Given the description of an element on the screen output the (x, y) to click on. 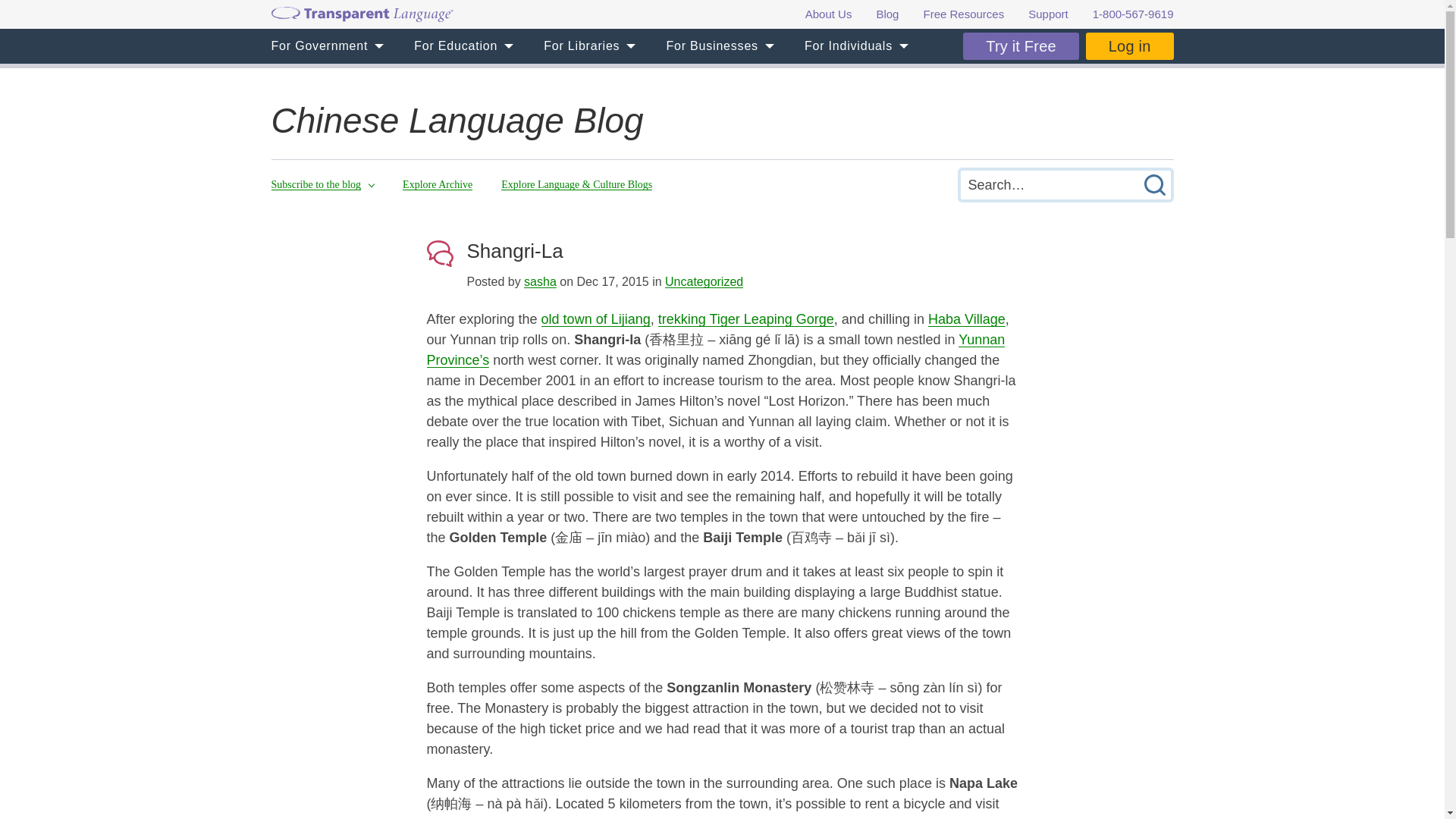
Posts by sasha (540, 281)
Submit Search (1153, 184)
Try it Free (1020, 45)
